Given the description of an element on the screen output the (x, y) to click on. 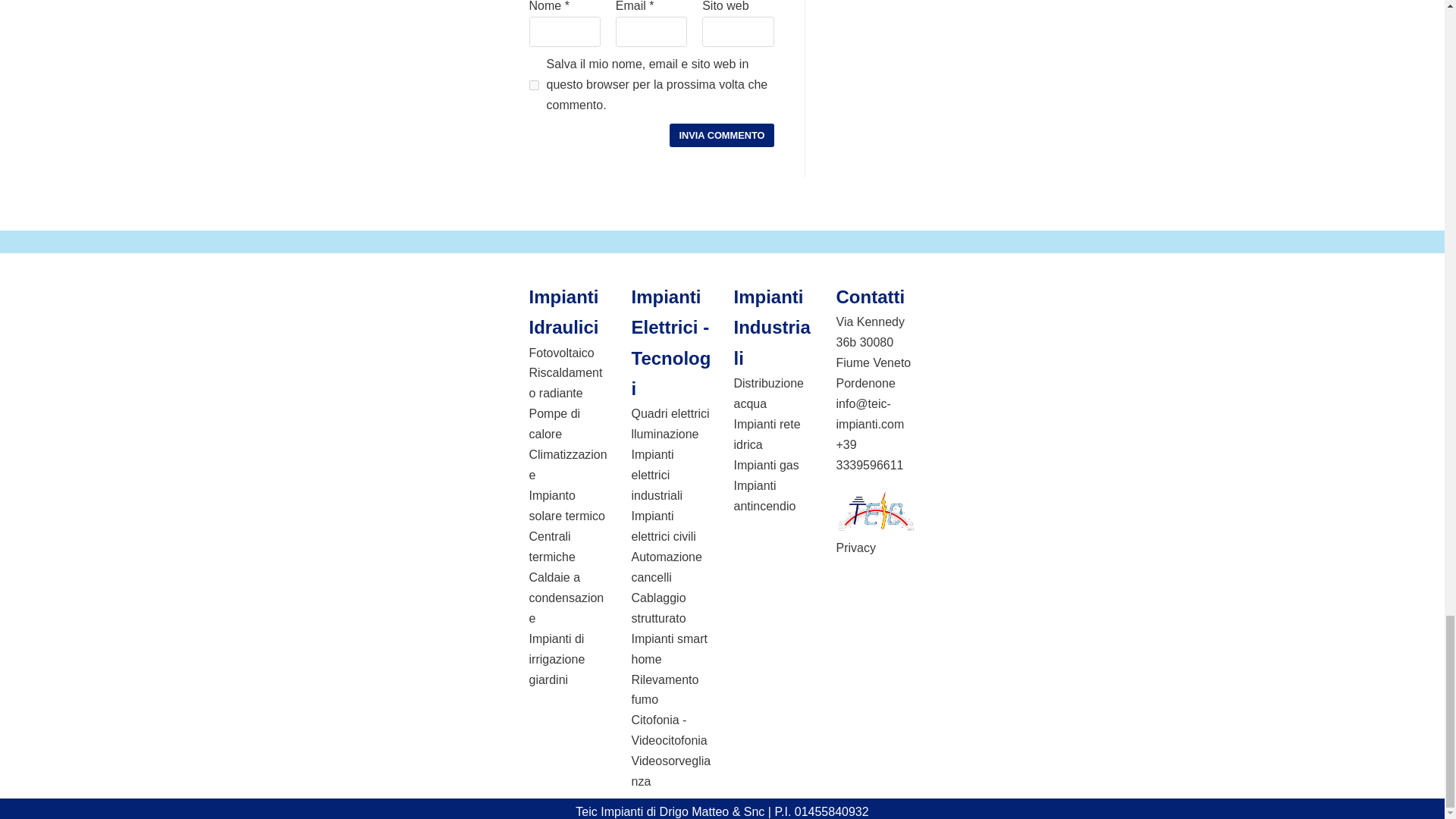
yes (533, 85)
Invia commento (721, 135)
Invia commento (721, 135)
Privacy (855, 547)
